Given the description of an element on the screen output the (x, y) to click on. 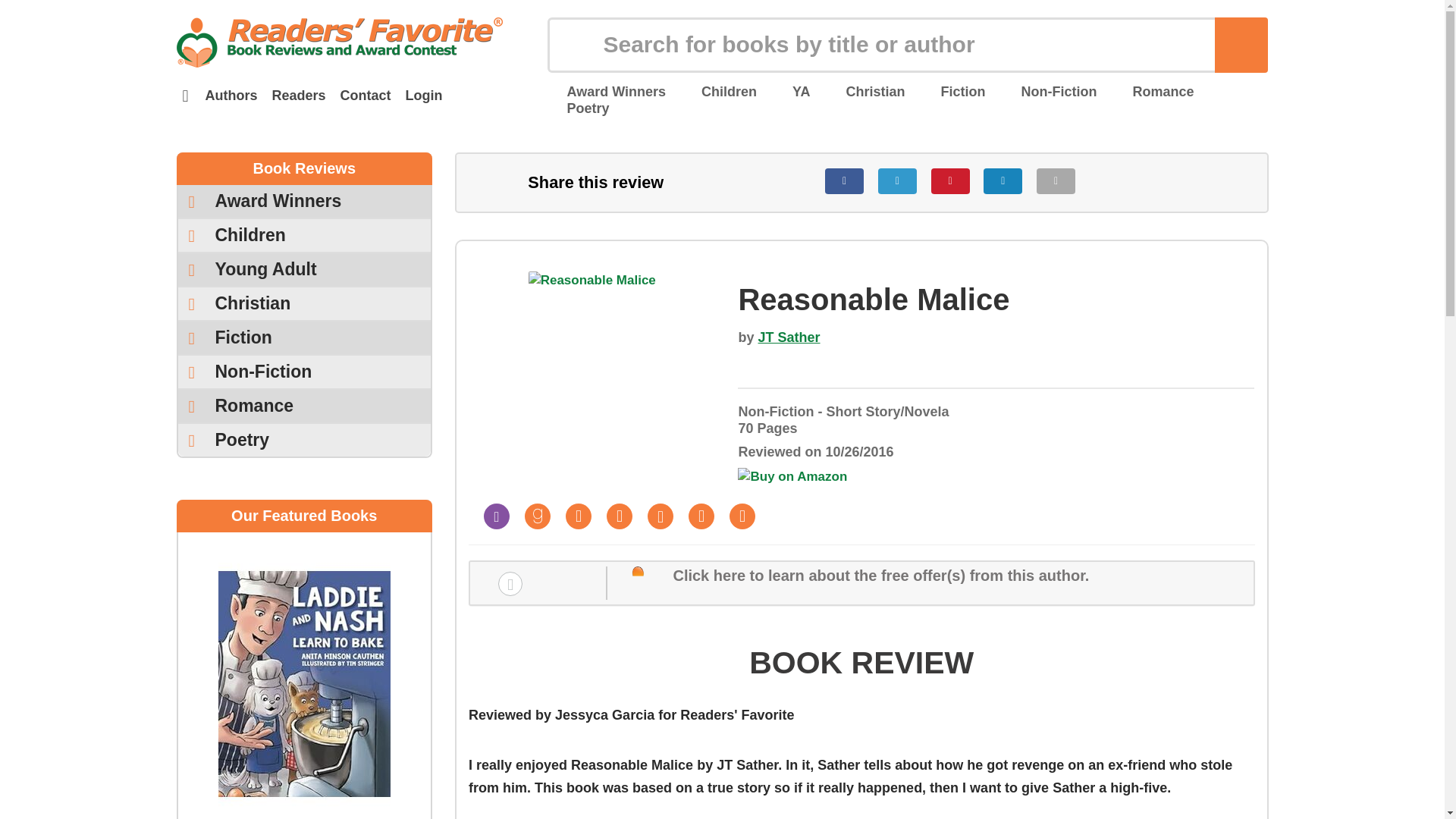
Readers' Favorite (339, 42)
YA (791, 91)
Readers (297, 96)
Login (423, 96)
Contact (365, 96)
Award Winners (303, 202)
Fiction (953, 91)
Poetry (577, 108)
Children (719, 91)
Non-Fiction (1048, 91)
Authors (230, 96)
Award Winners (606, 91)
Romance (1153, 91)
Christian (865, 91)
